Given the description of an element on the screen output the (x, y) to click on. 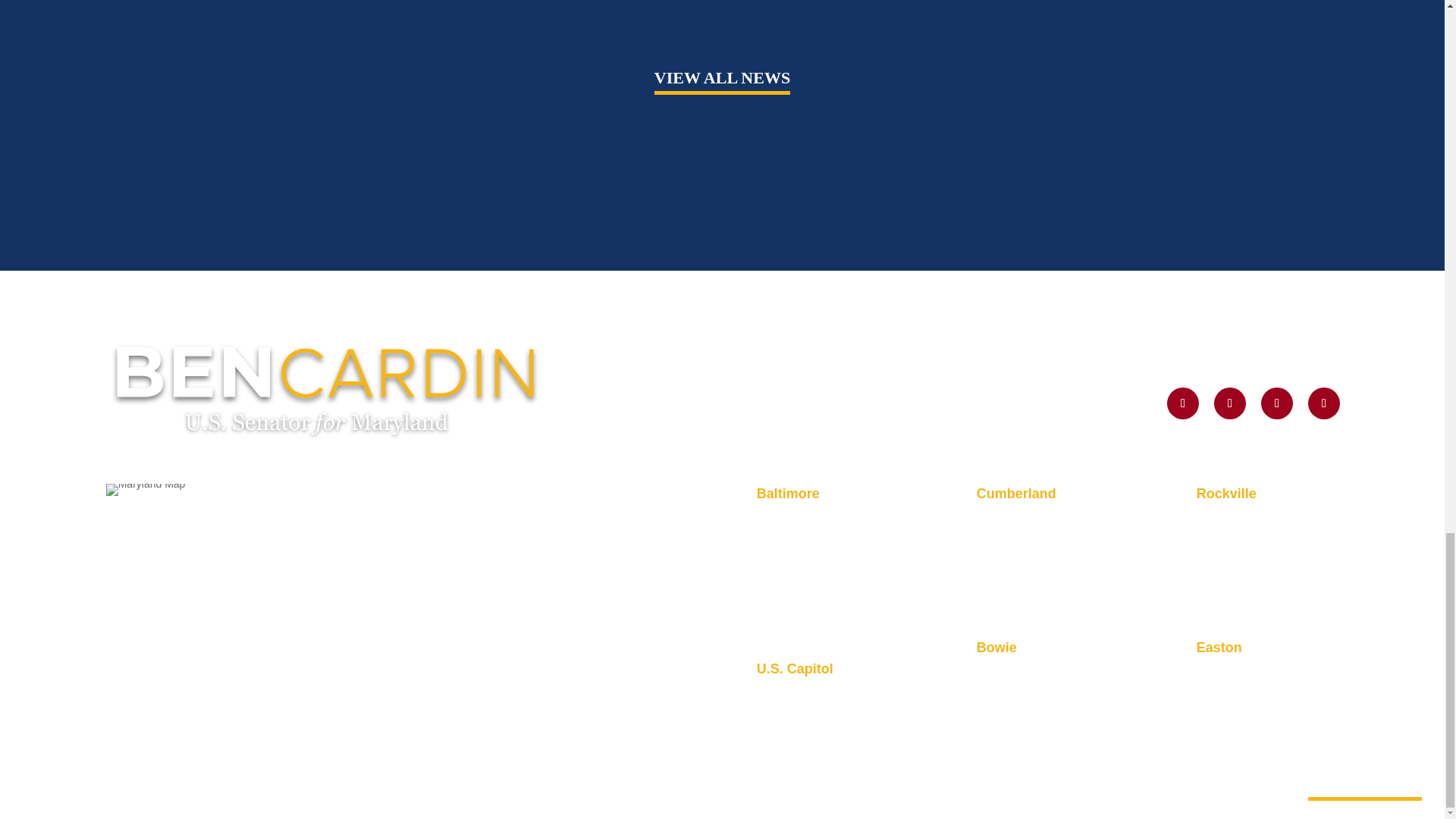
Footer (326, 387)
Privacy Policy (154, 541)
Follow on X (1182, 403)
Follow on Facebook (1323, 403)
Follow on Youtube (1276, 403)
Follow on Instagram (1230, 403)
